Given the description of an element on the screen output the (x, y) to click on. 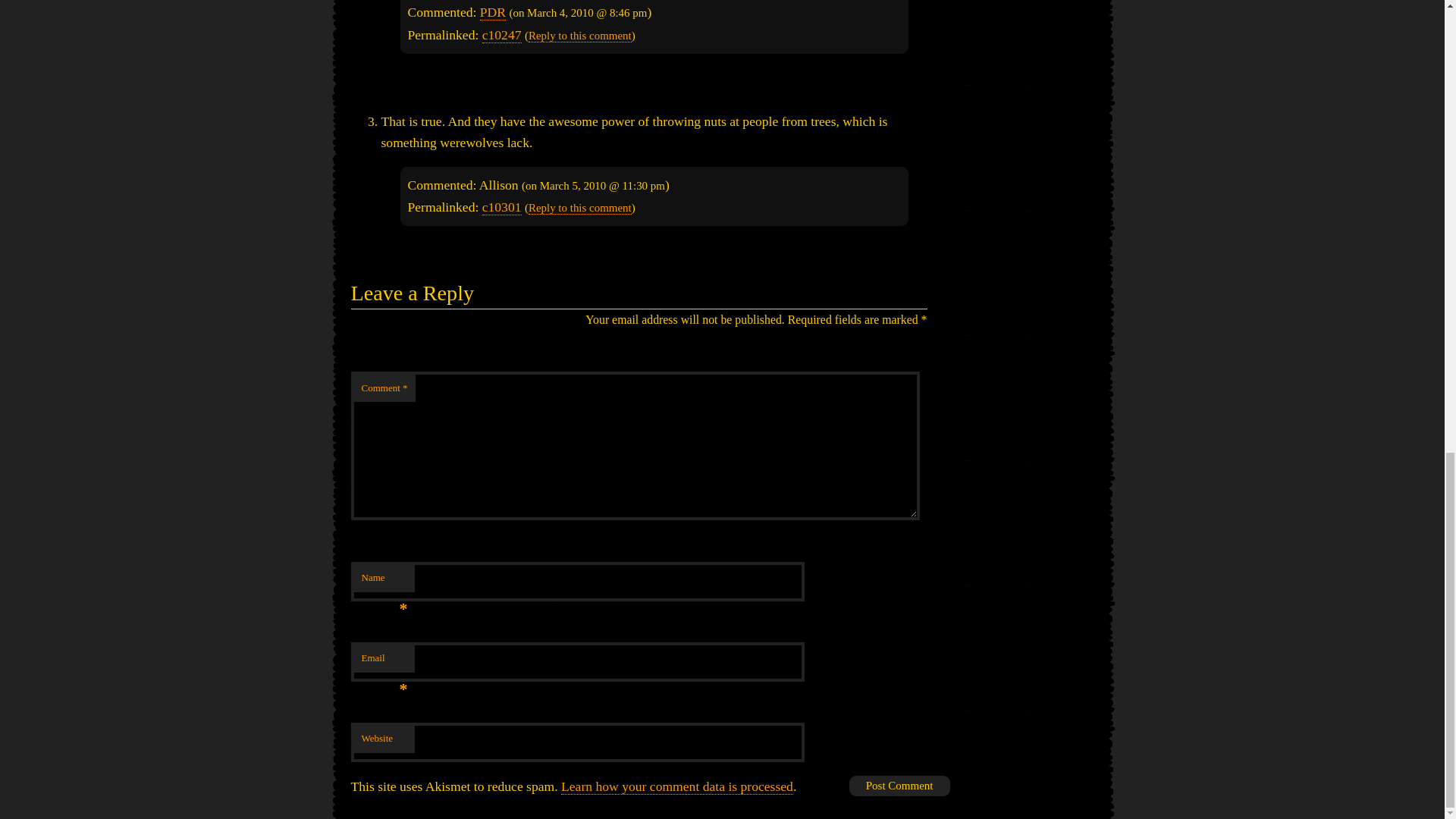
c10301 (501, 207)
Post Comment (899, 785)
Post Comment (899, 785)
PDR (492, 12)
Reply to this comment (579, 35)
Reply to this comment (579, 207)
c10247 (501, 35)
Learn how your comment data is processed (676, 786)
